Given the description of an element on the screen output the (x, y) to click on. 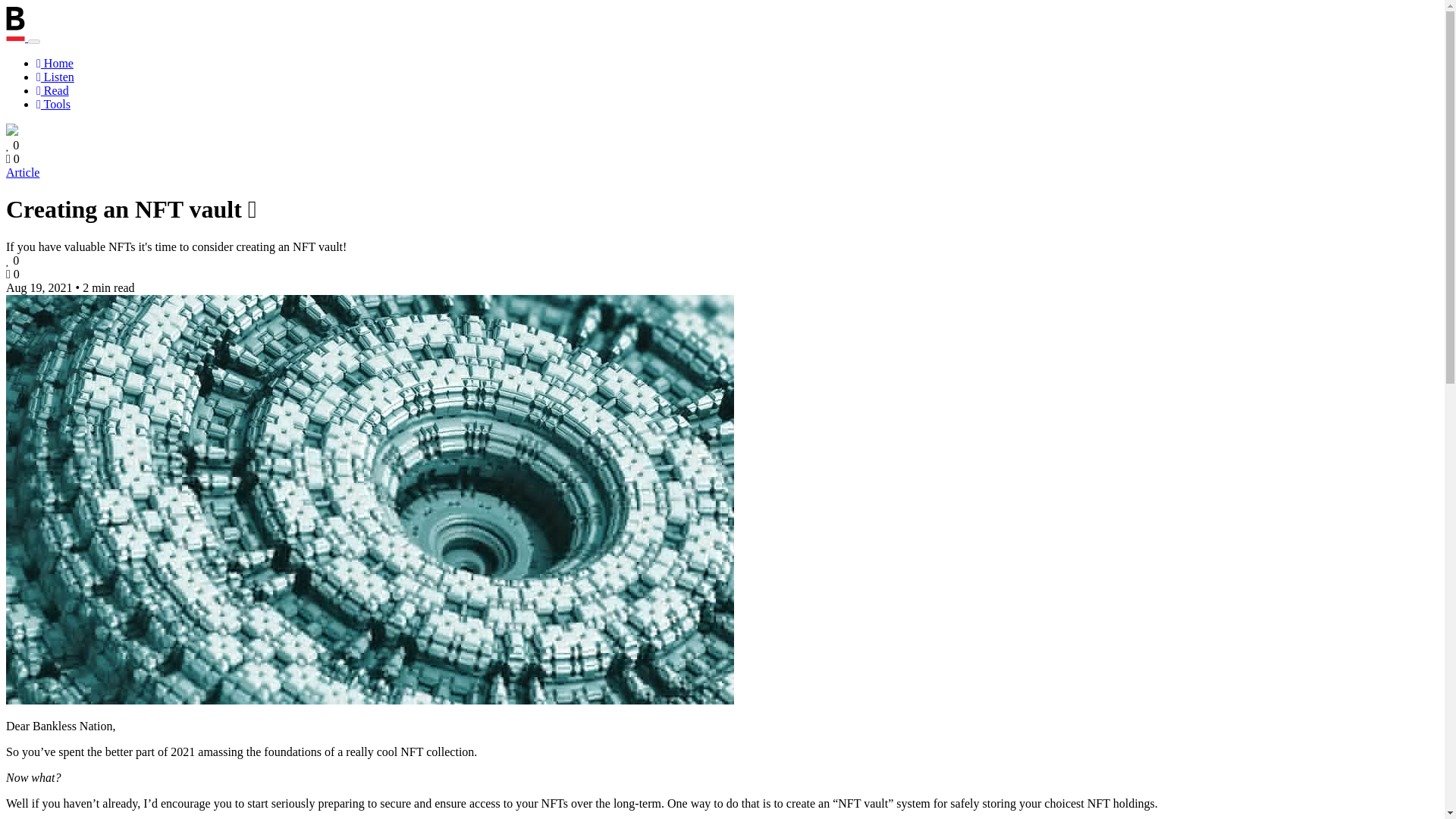
Read (52, 90)
Tools (52, 103)
Listen (55, 76)
Article (22, 172)
Home (55, 62)
